Given the description of an element on the screen output the (x, y) to click on. 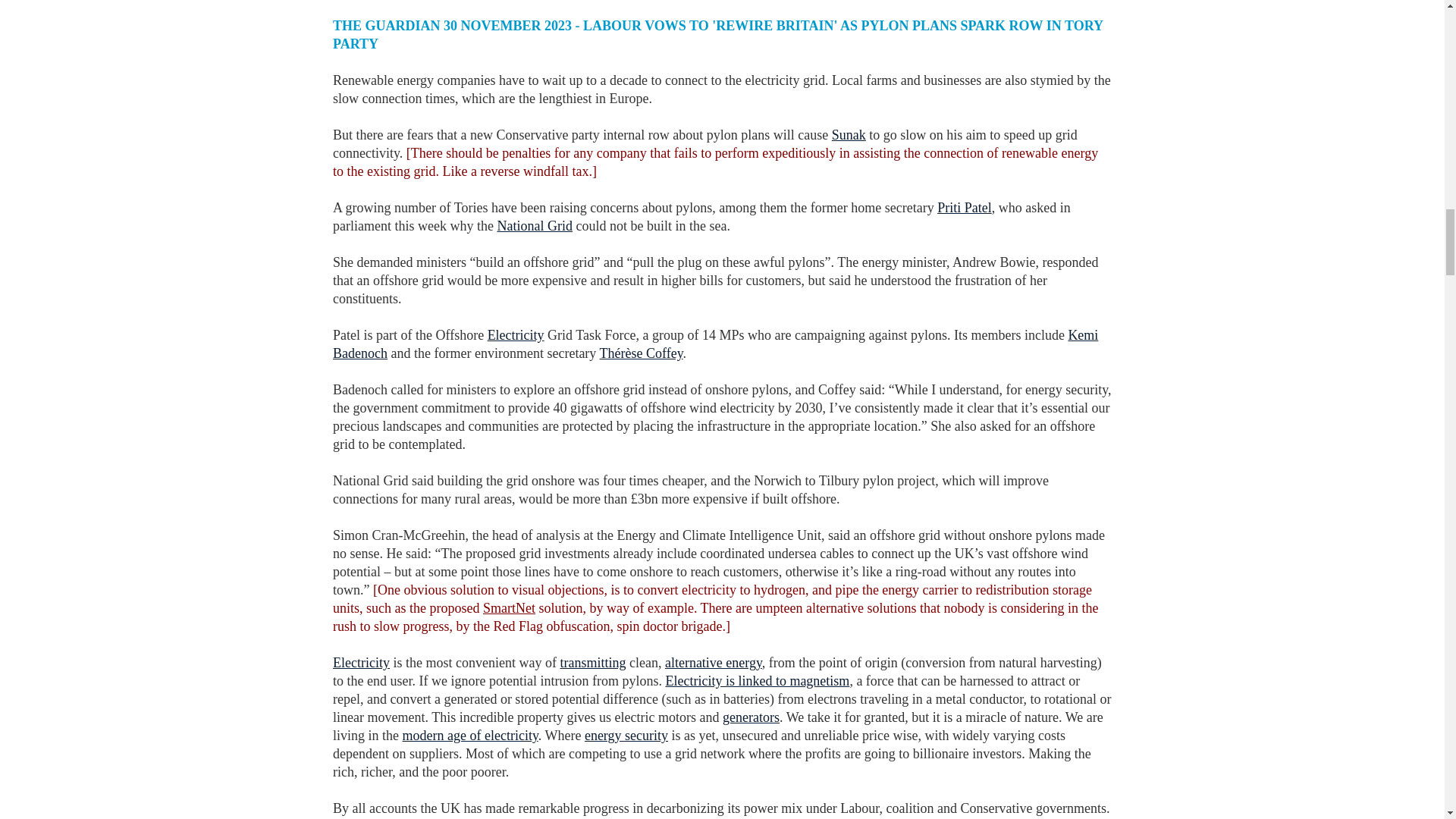
generators (750, 717)
National Grid (534, 225)
Electricity is linked to magnetism (756, 680)
Electricity (515, 335)
Electricity (361, 662)
Sunak (848, 134)
Kemi Badenoch (715, 344)
modern age of electricity (469, 735)
energy security (626, 735)
SmartNet (509, 607)
